Given the description of an element on the screen output the (x, y) to click on. 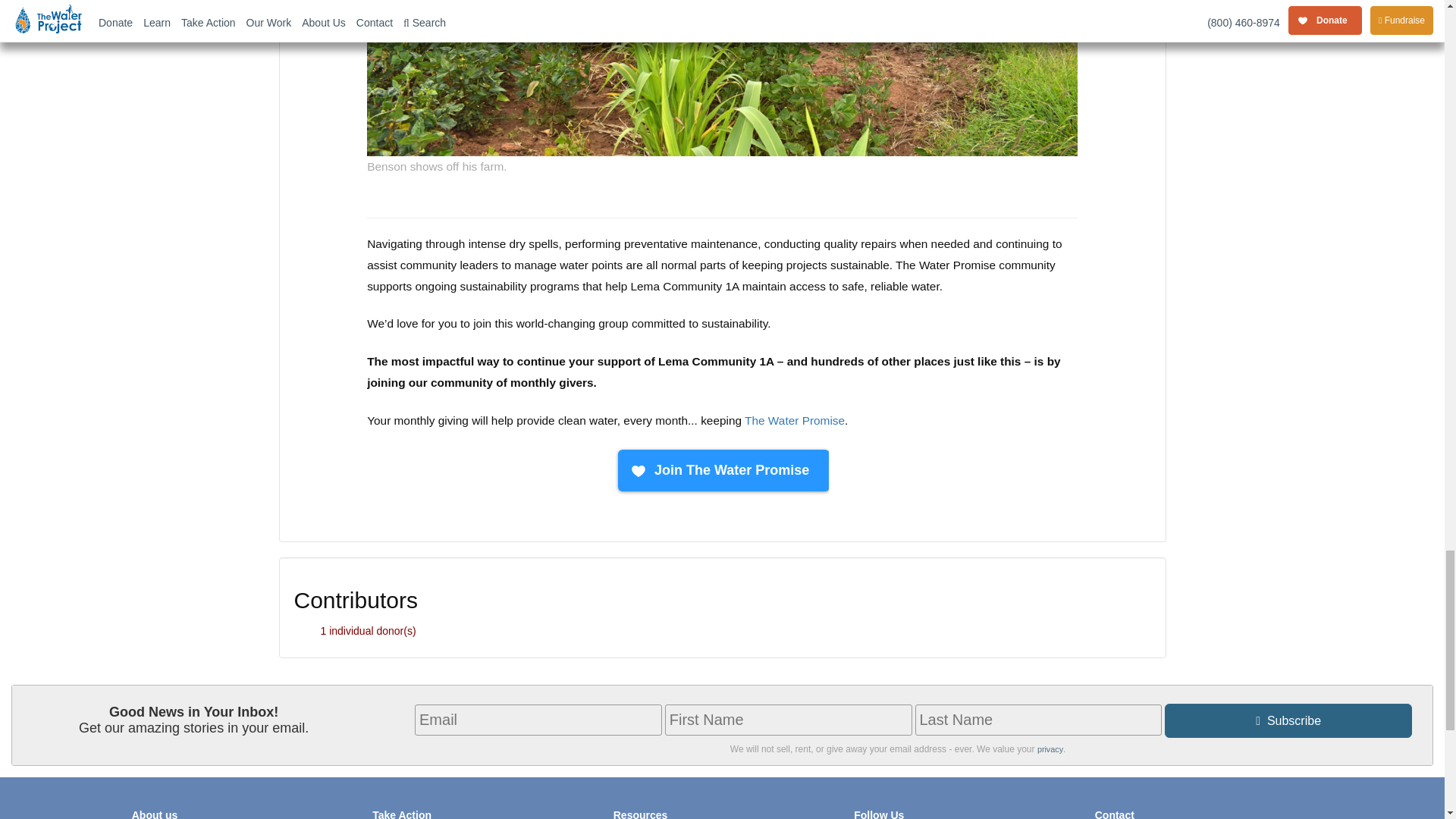
Donate Button (721, 471)
